Given the description of an element on the screen output the (x, y) to click on. 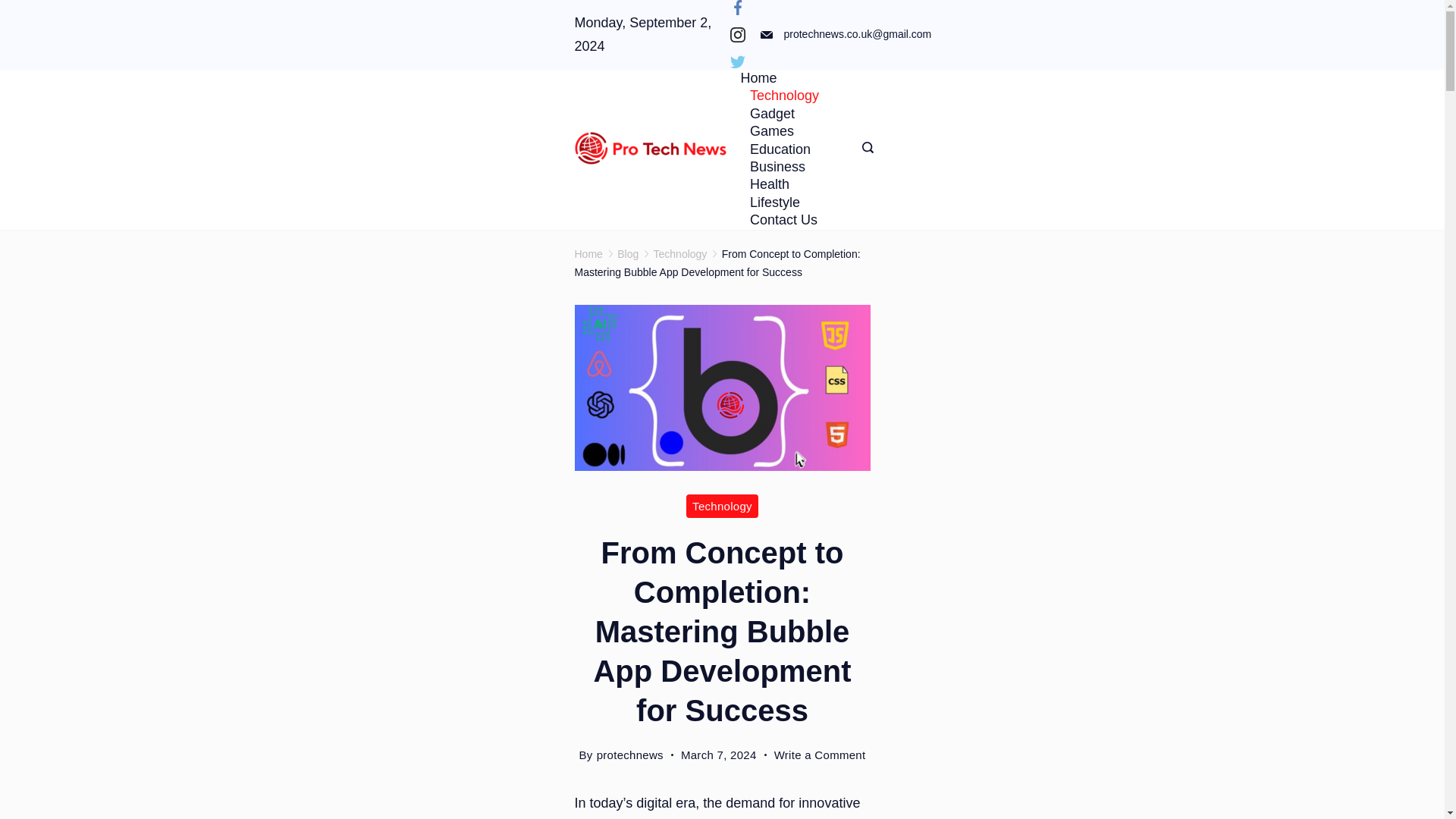
Business (776, 167)
Games (771, 131)
Lifestyle (774, 202)
Education (779, 149)
Contact Us (777, 220)
Gadget (771, 113)
Technology (783, 95)
Home (762, 77)
Technology (721, 505)
